Given the description of an element on the screen output the (x, y) to click on. 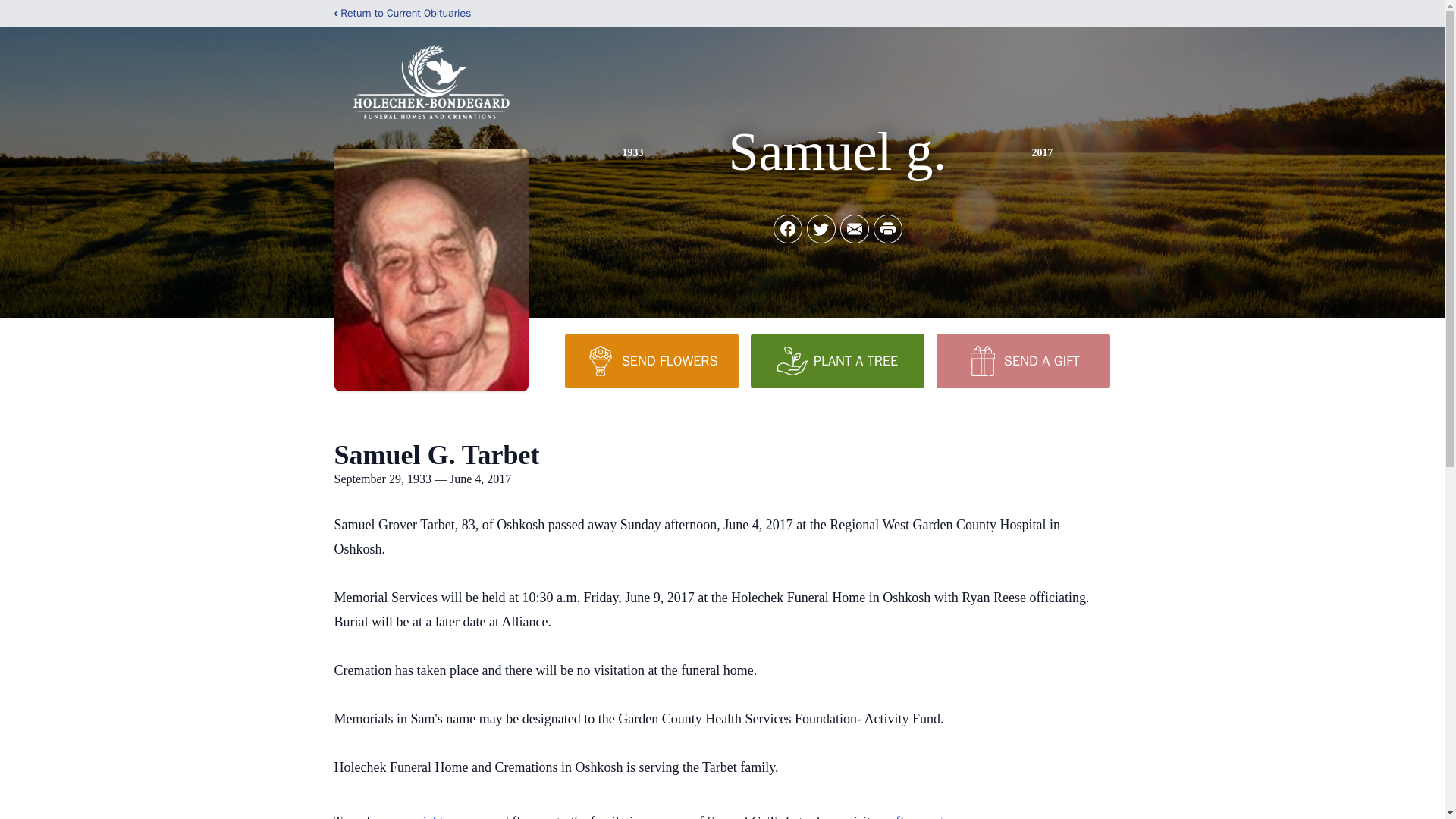
memorial trees (424, 816)
flower store (927, 816)
PLANT A TREE (837, 360)
SEND FLOWERS (651, 360)
SEND A GIFT (1022, 360)
